Given the description of an element on the screen output the (x, y) to click on. 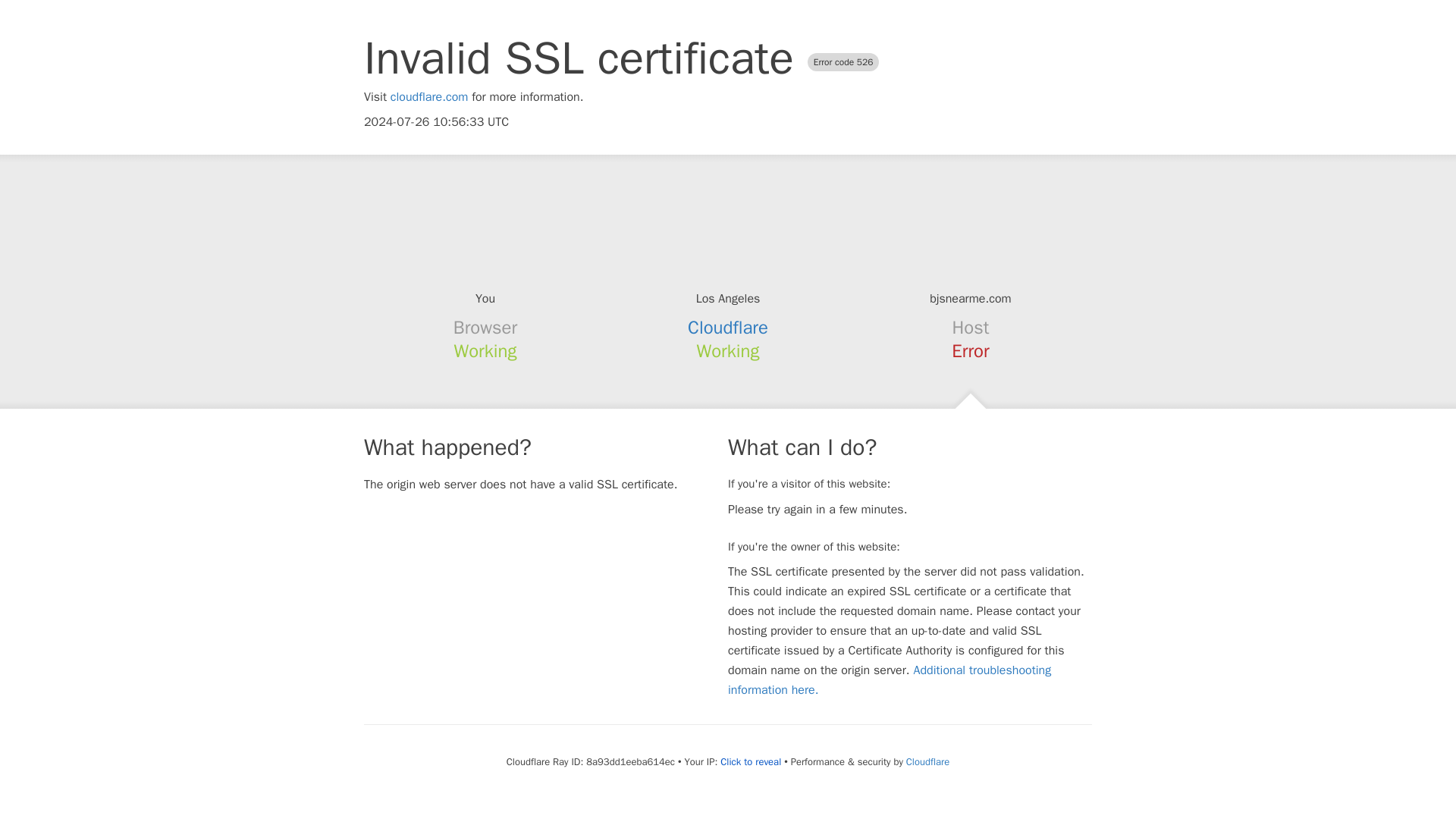
Cloudflare (727, 327)
Additional troubleshooting information here. (889, 679)
cloudflare.com (429, 96)
Click to reveal (750, 762)
Cloudflare (927, 761)
